Given the description of an element on the screen output the (x, y) to click on. 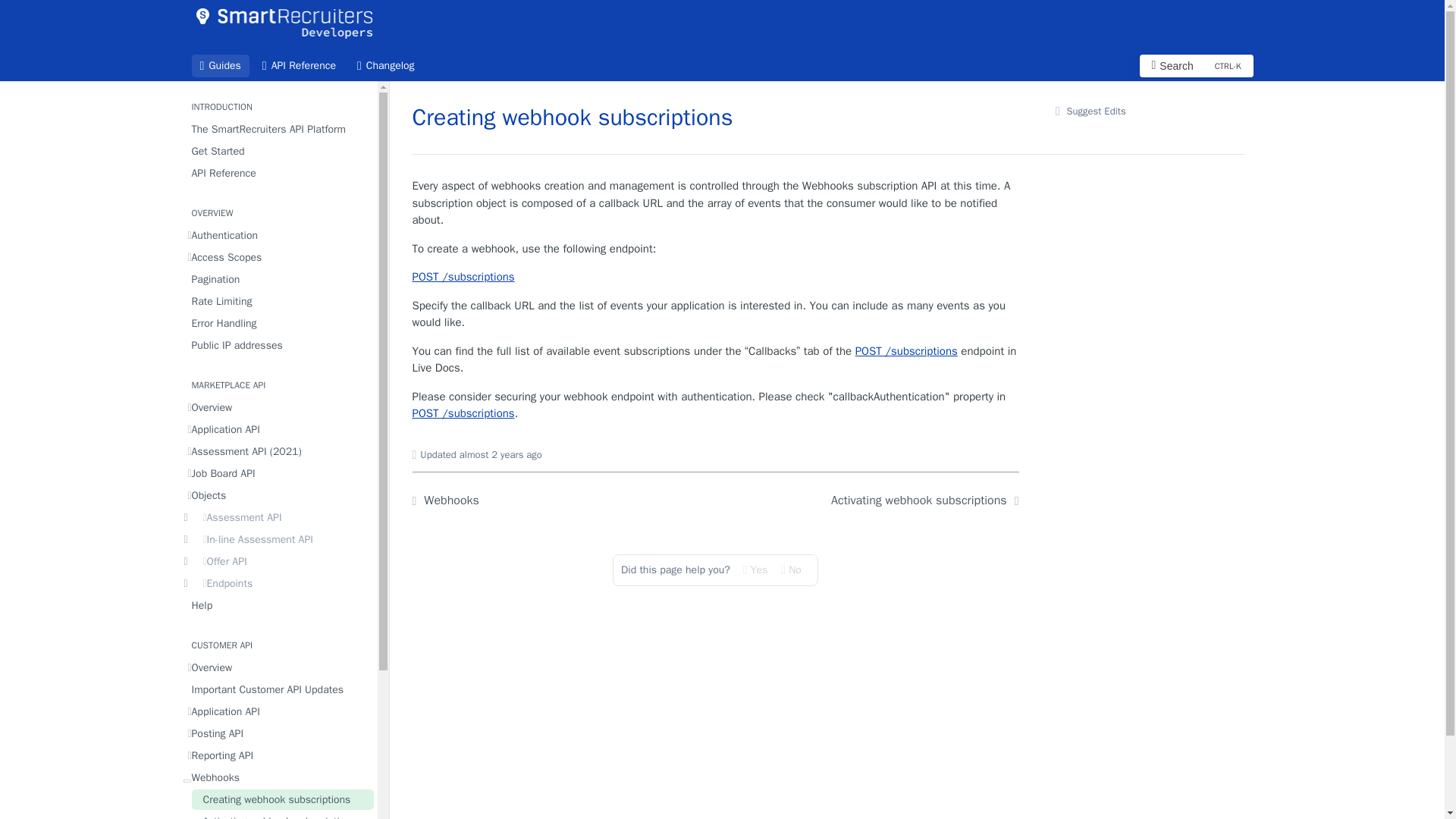
Changelog (386, 65)
Authentication (1195, 65)
API Reference (277, 235)
Public IP addresses (298, 65)
Get Started (277, 344)
API Reference (277, 150)
Guides (277, 172)
Error Handling (219, 65)
Application API (277, 322)
The SmartRecruiters API Platform (277, 429)
Rate Limiting (277, 128)
Access Scopes (277, 301)
Overview (277, 257)
Pagination (277, 407)
